Given the description of an element on the screen output the (x, y) to click on. 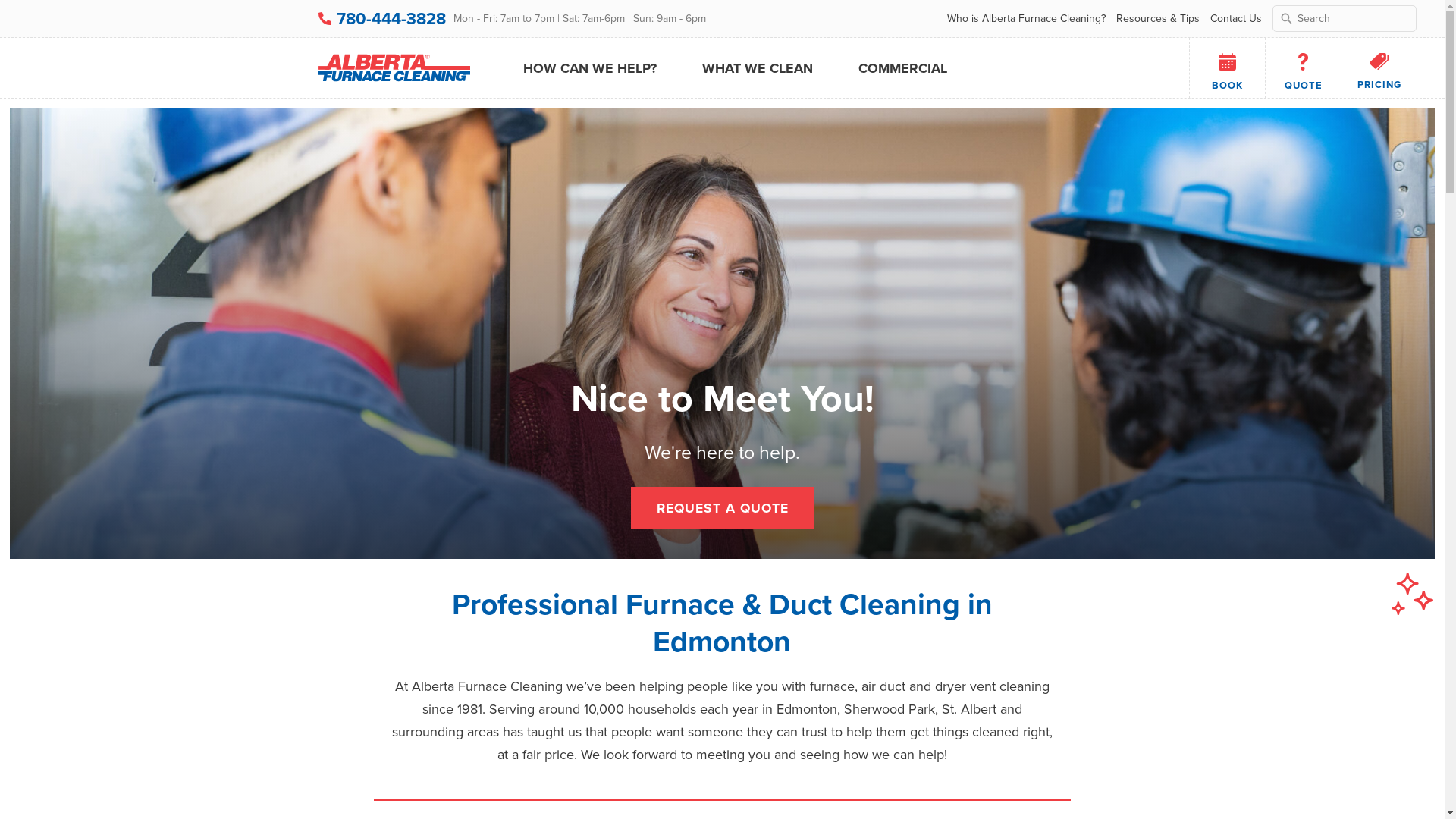
WHAT WE CLEAN Element type: text (757, 67)
REQUEST A QUOTE Element type: text (722, 507)
780-444-3828 Element type: text (390, 18)
Who is Alberta Furnace Cleaning? Element type: text (1026, 18)
HOW CAN WE HELP? Element type: text (589, 67)
PRICING Element type: text (1379, 67)
Resources & Tips Element type: text (1157, 18)
QUOTE Element type: text (1303, 67)
Contact Us Element type: text (1235, 18)
COMMERCIAL Element type: text (902, 67)
BOOK Element type: text (1226, 67)
